Given the description of an element on the screen output the (x, y) to click on. 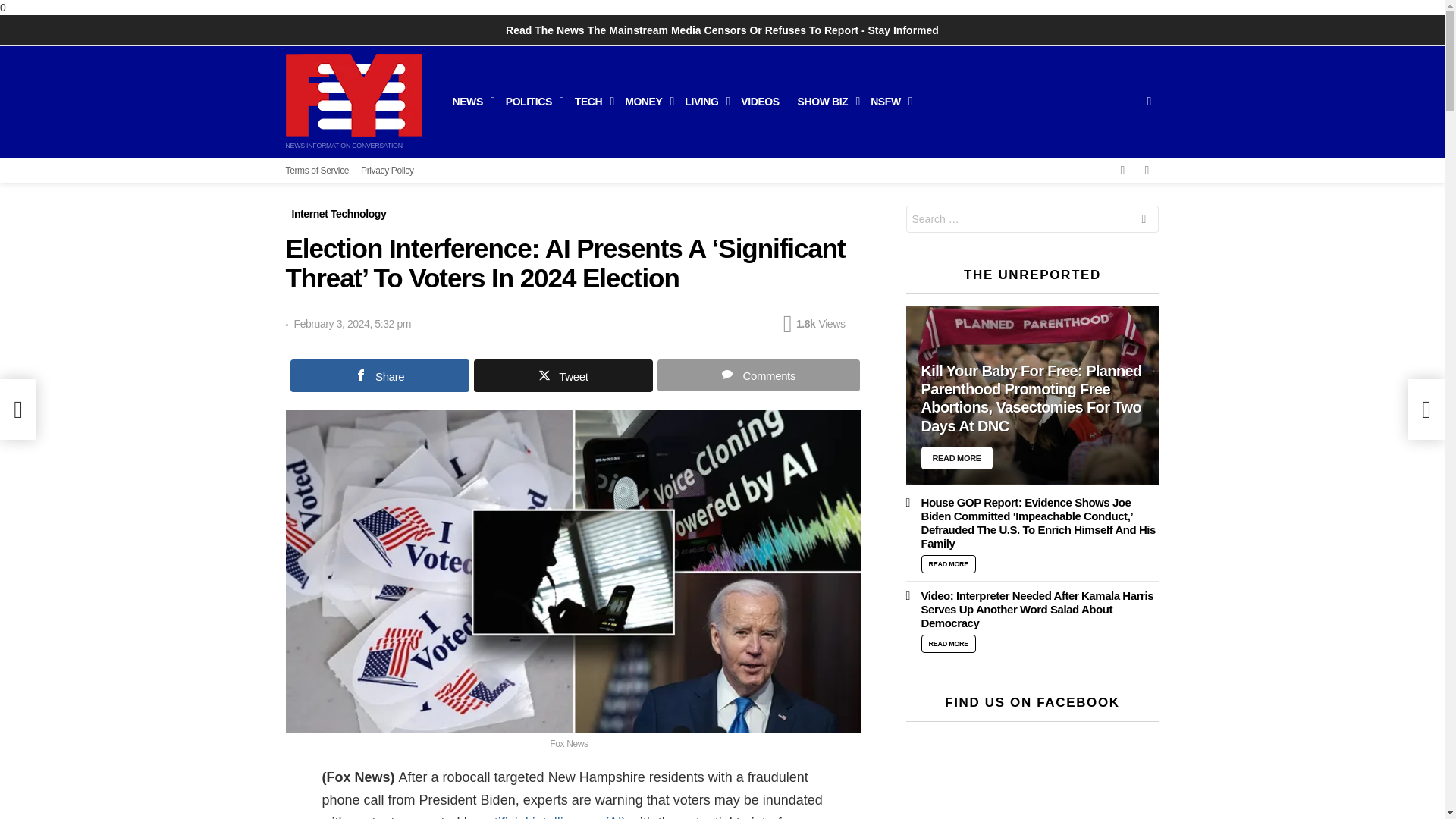
MONEY (645, 101)
LIVING (703, 101)
NEWS (469, 101)
TECH (590, 101)
POLITICS (530, 101)
